Given the description of an element on the screen output the (x, y) to click on. 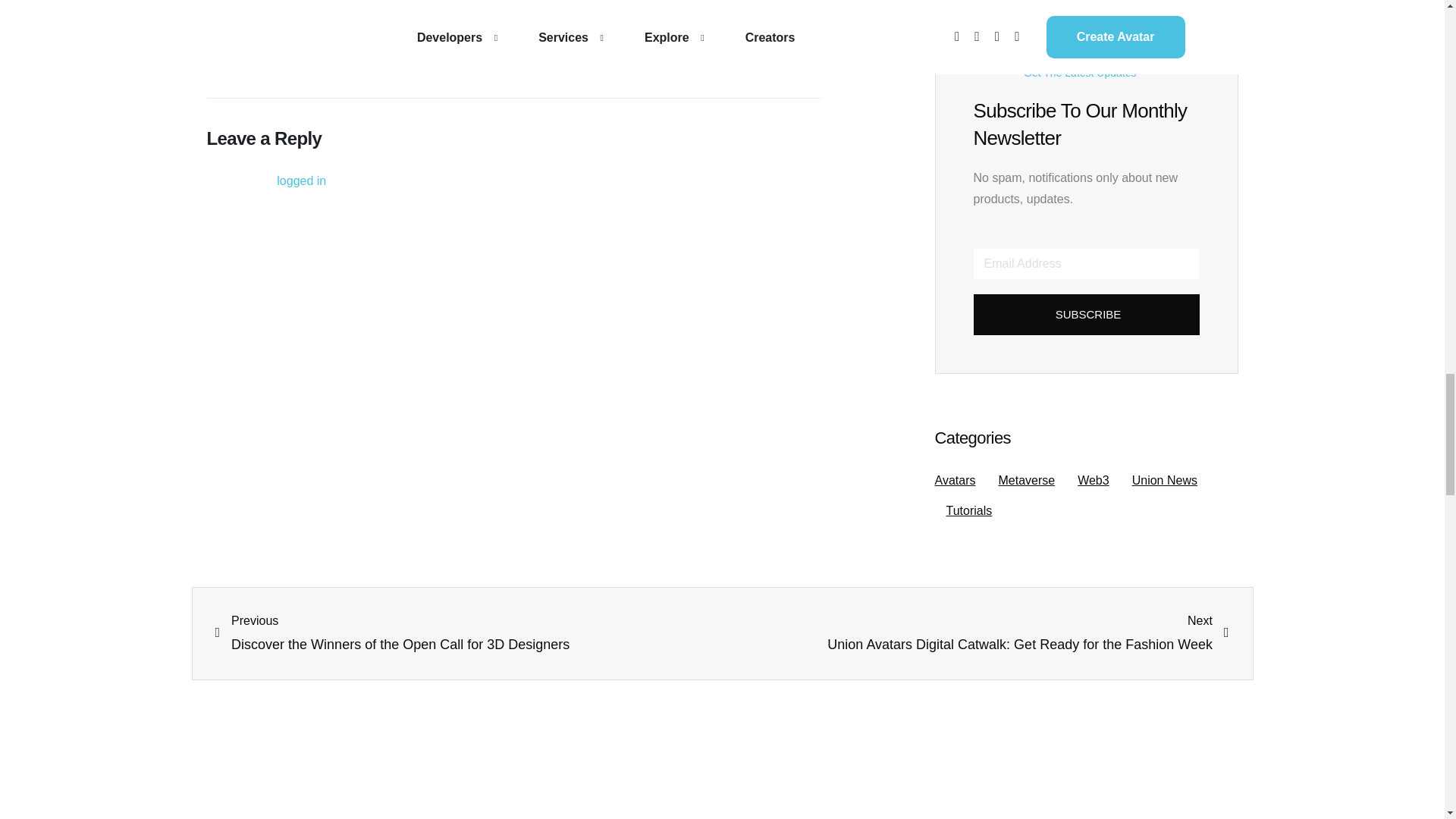
logged in (301, 180)
